Given the description of an element on the screen output the (x, y) to click on. 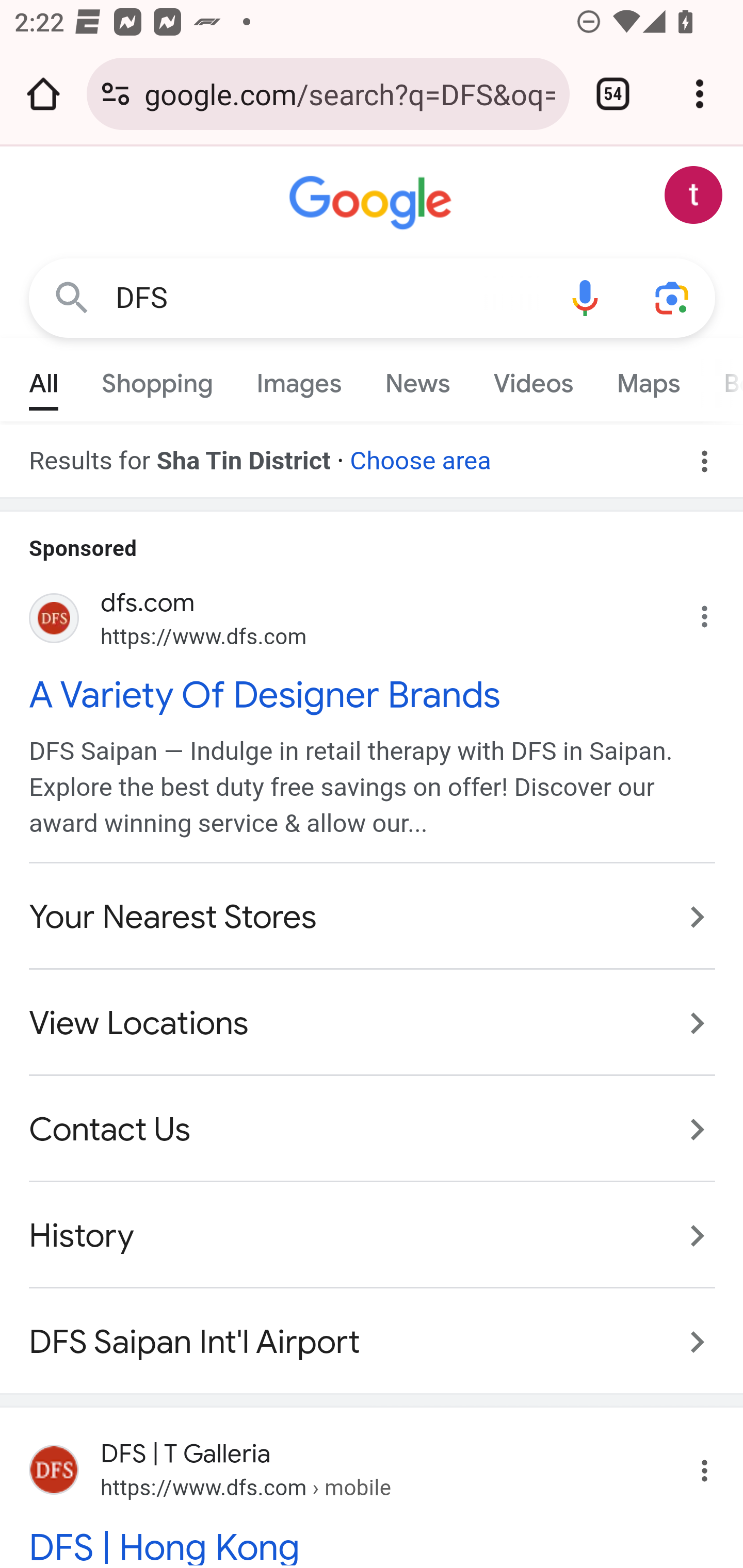
Open the home page (43, 93)
Connection is secure (115, 93)
Switch or close tabs (612, 93)
Customize and control Google Chrome (699, 93)
Google (372, 203)
Google Search (71, 296)
Search using your camera or photos (672, 296)
DFS (328, 297)
Shopping (157, 378)
Images (299, 378)
News (417, 378)
Videos (533, 378)
Maps (647, 378)
Choose area (419, 453)
Why this ad? (714, 611)
A Variety Of Designer Brands (372, 694)
Your Nearest Stores (372, 916)
View Locations (372, 1023)
Contact Us (372, 1129)
History (372, 1235)
DFS Saipan Int'l Airport (372, 1330)
DFS | Hong Kong (372, 1544)
